Given the description of an element on the screen output the (x, y) to click on. 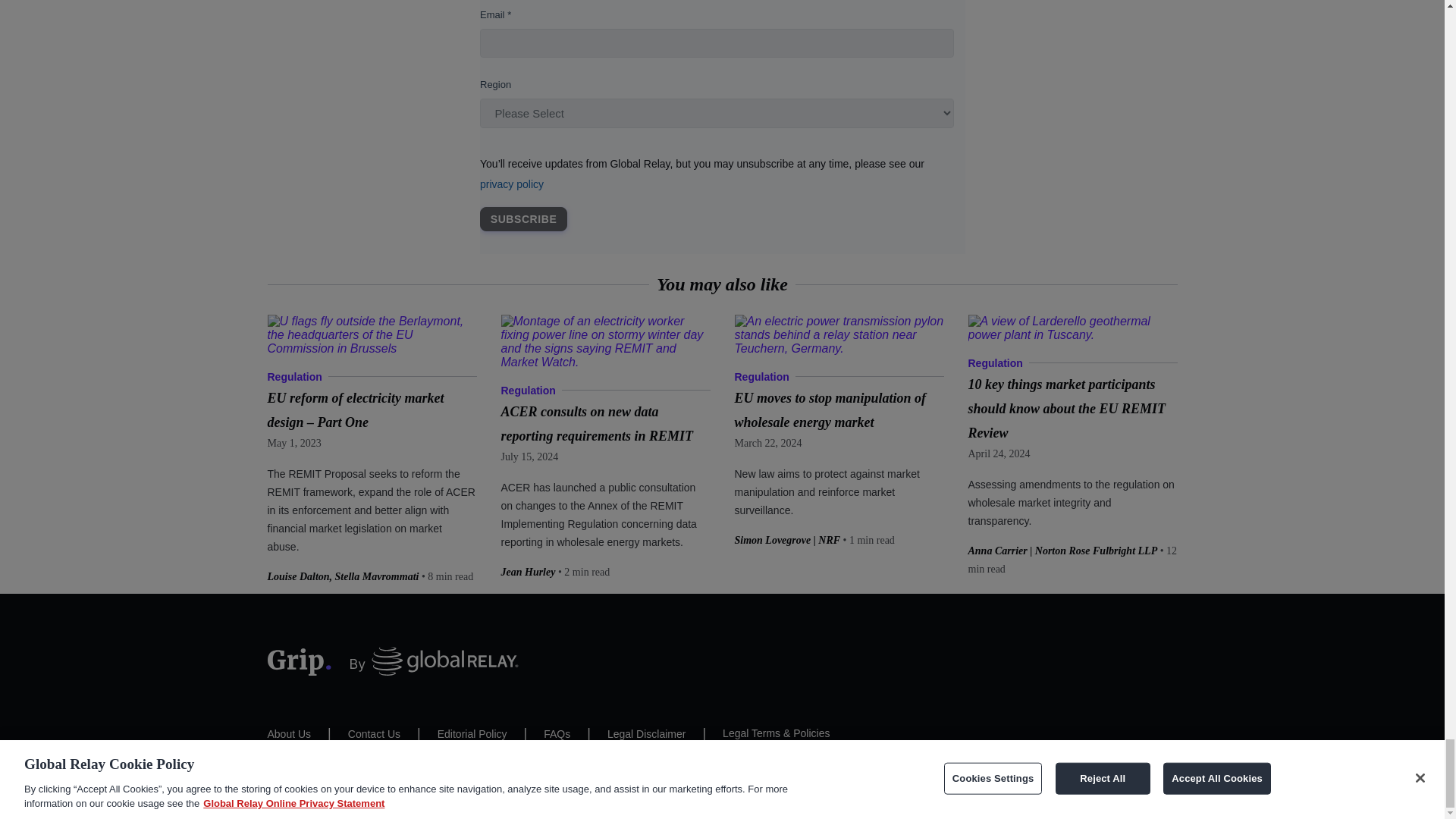
Grip newsletter Form (721, 126)
